Given the description of an element on the screen output the (x, y) to click on. 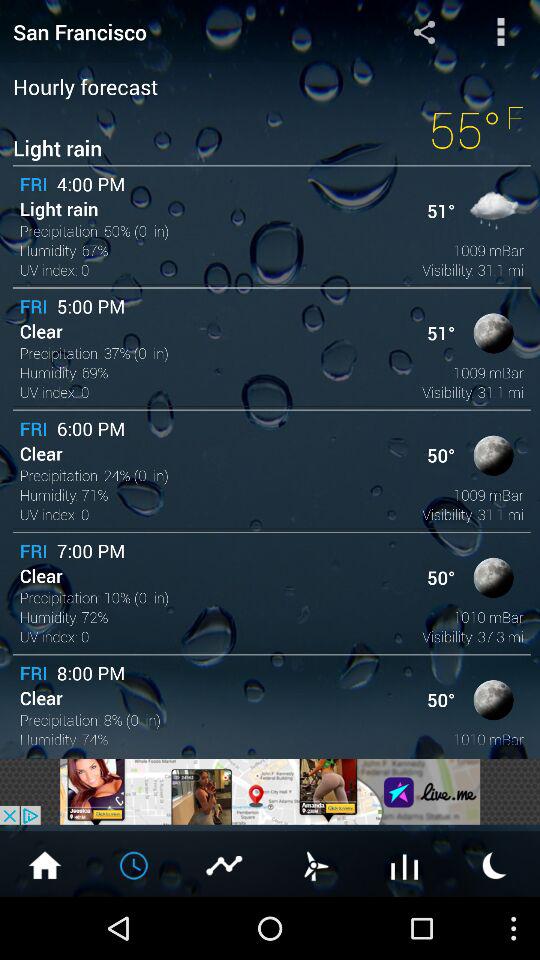
go to homepage (45, 864)
